Given the description of an element on the screen output the (x, y) to click on. 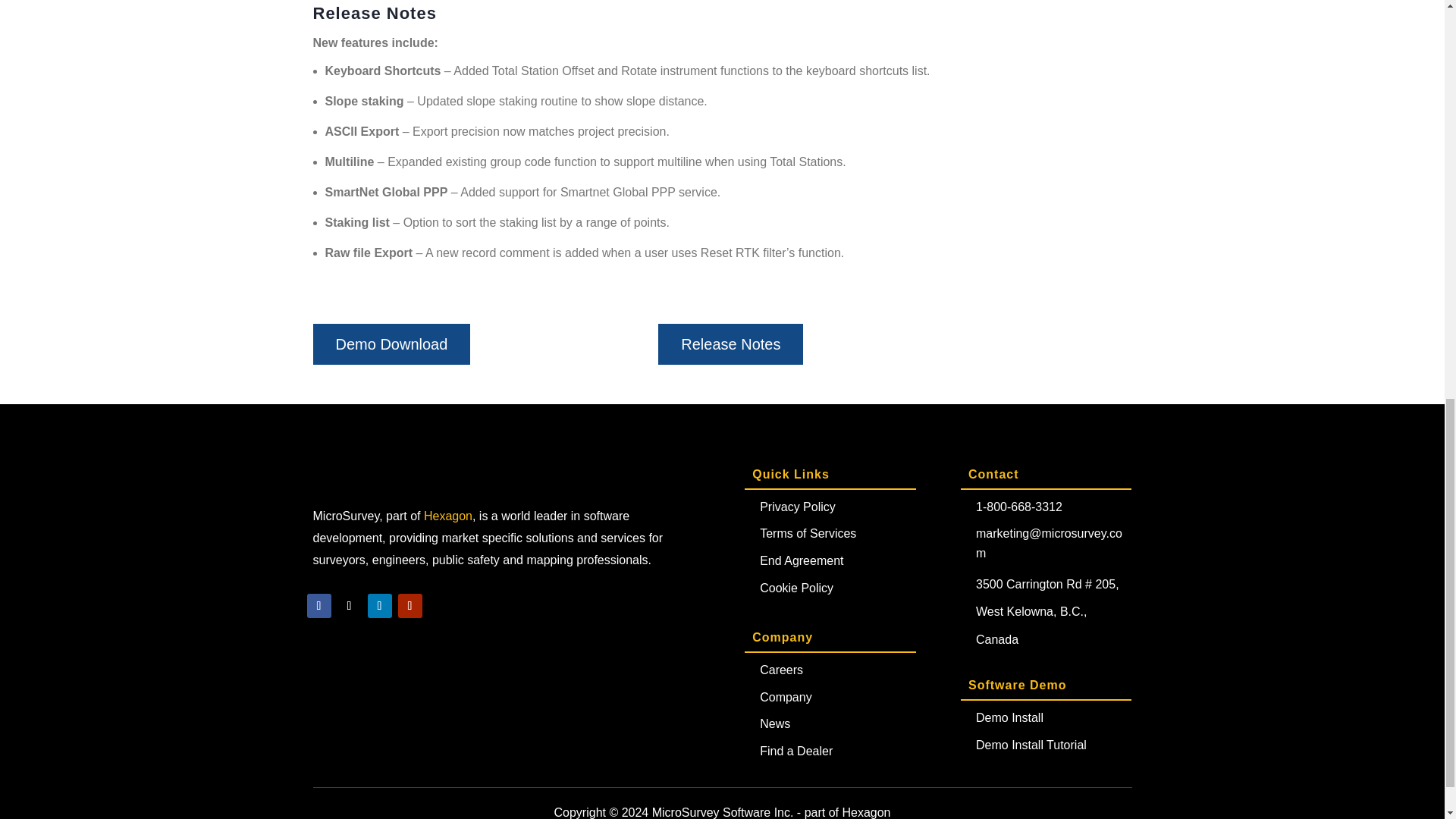
Follow on Youtube (409, 605)
Follow on X (348, 605)
End Agreement (801, 560)
Privacy Policy (797, 506)
MIC-Logo-white (386, 478)
Company (785, 697)
Careers (781, 669)
Follow on LinkedIn (378, 605)
Follow on Facebook (317, 605)
Terms of Services (808, 533)
Release Notes (730, 343)
Cookie Policy (796, 587)
Hexagon (447, 515)
Demo Download (391, 343)
